Given the description of an element on the screen output the (x, y) to click on. 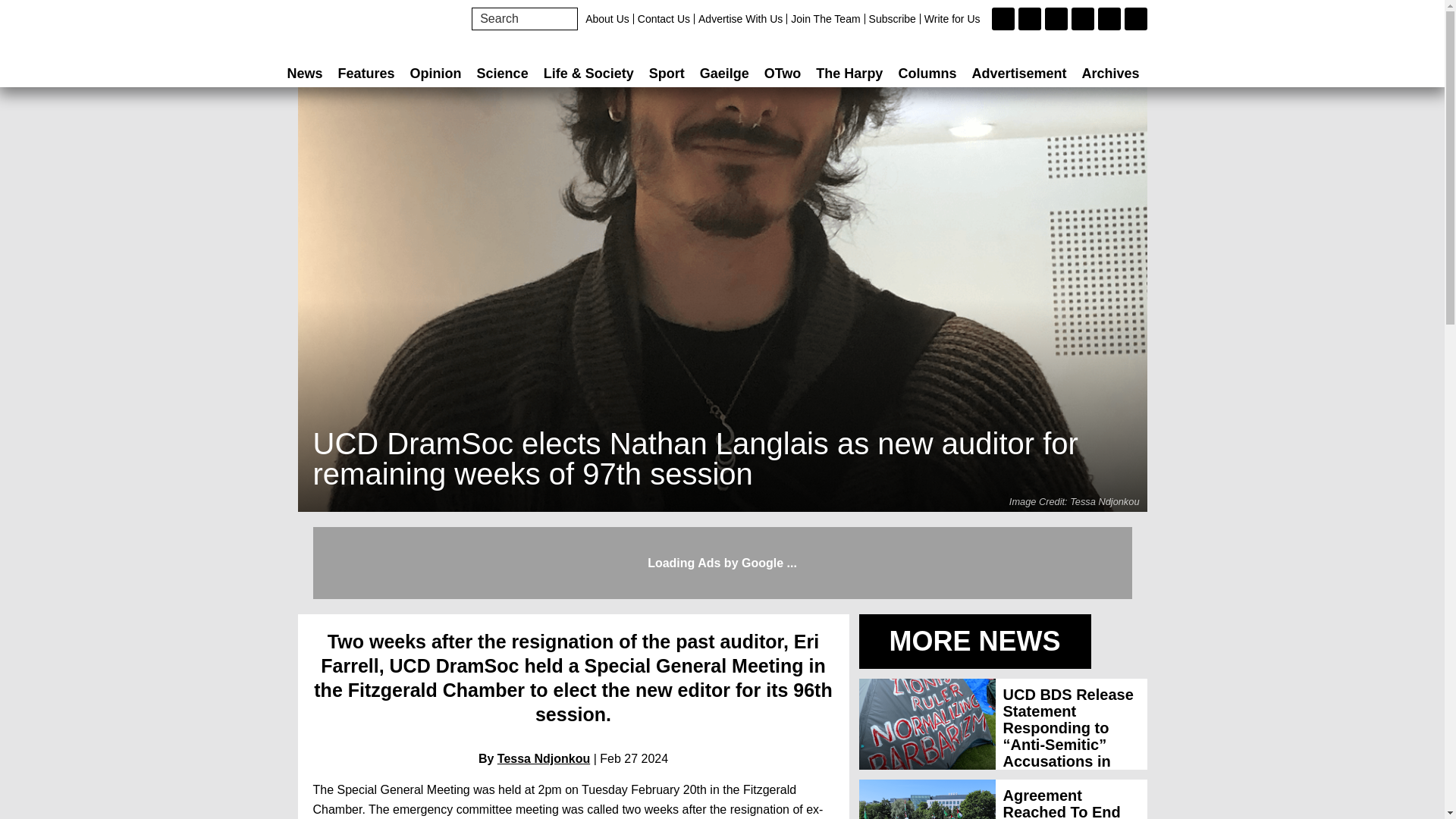
Gaeilge (725, 73)
Features (366, 73)
Sport (667, 73)
Science (501, 73)
Columns (926, 73)
Advertisement (1018, 73)
The Harpy (848, 73)
